Given the description of an element on the screen output the (x, y) to click on. 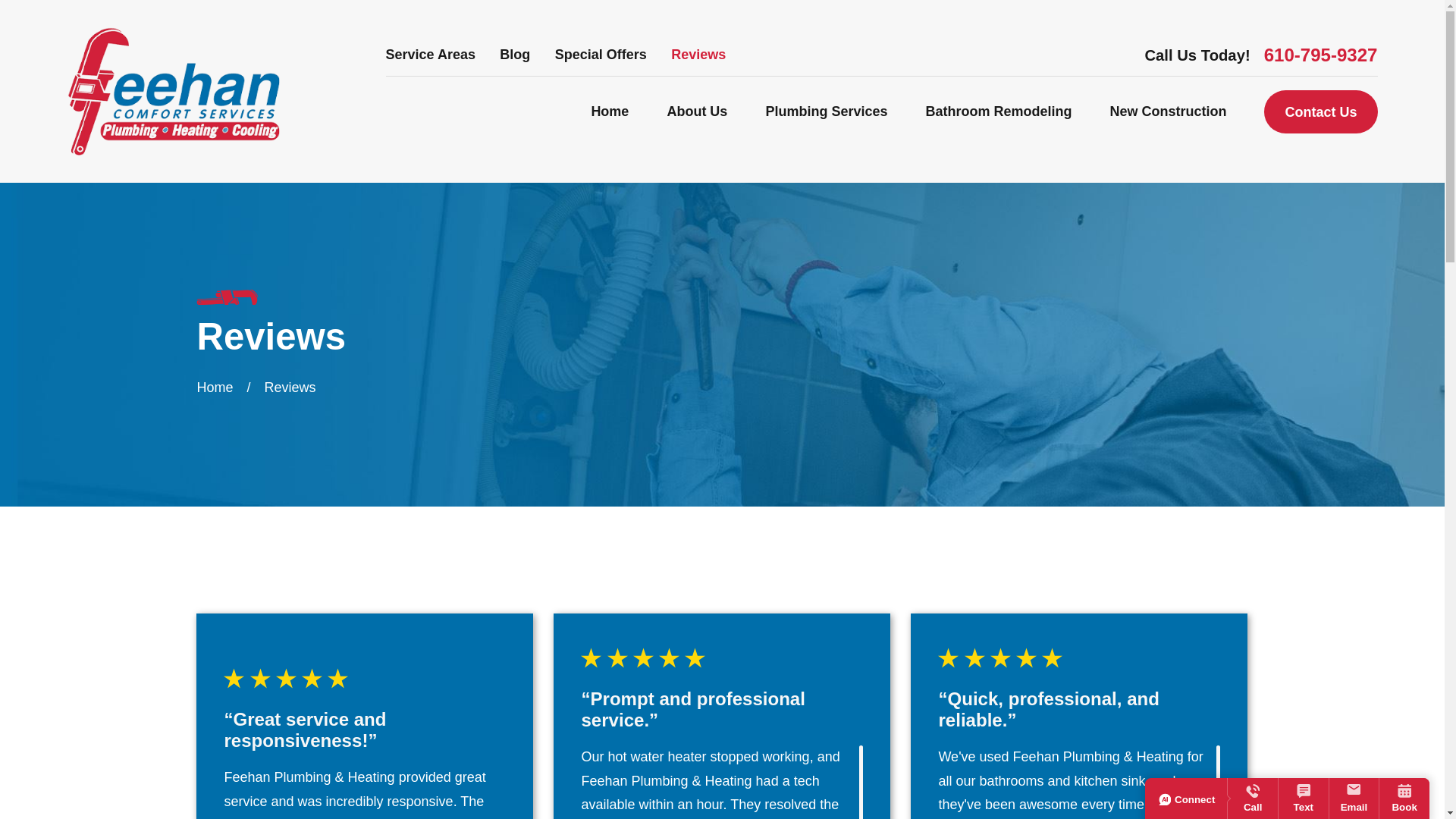
Home (172, 90)
5 Star Rating (364, 678)
Service Areas (430, 54)
Reviews (698, 54)
610-795-9327 (1320, 54)
Plumbing Services (825, 112)
Go Home (214, 387)
5 Star Rating (721, 657)
Bathroom Remodeling (997, 112)
About Us (696, 112)
